Given the description of an element on the screen output the (x, y) to click on. 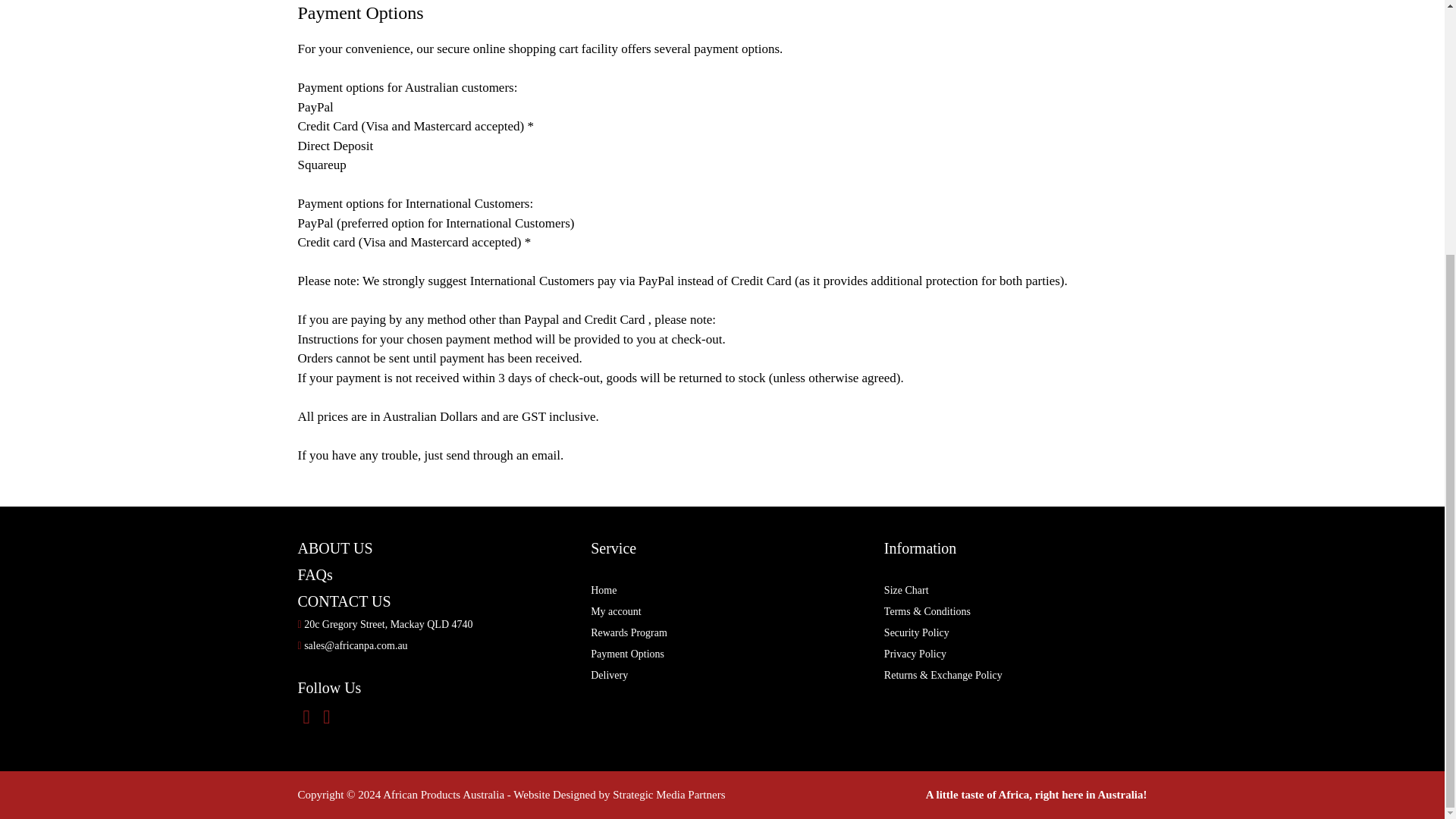
ABOUT US (334, 547)
Home (603, 590)
CONTACT US (343, 600)
My account (615, 611)
FAQs (314, 574)
